Given the description of an element on the screen output the (x, y) to click on. 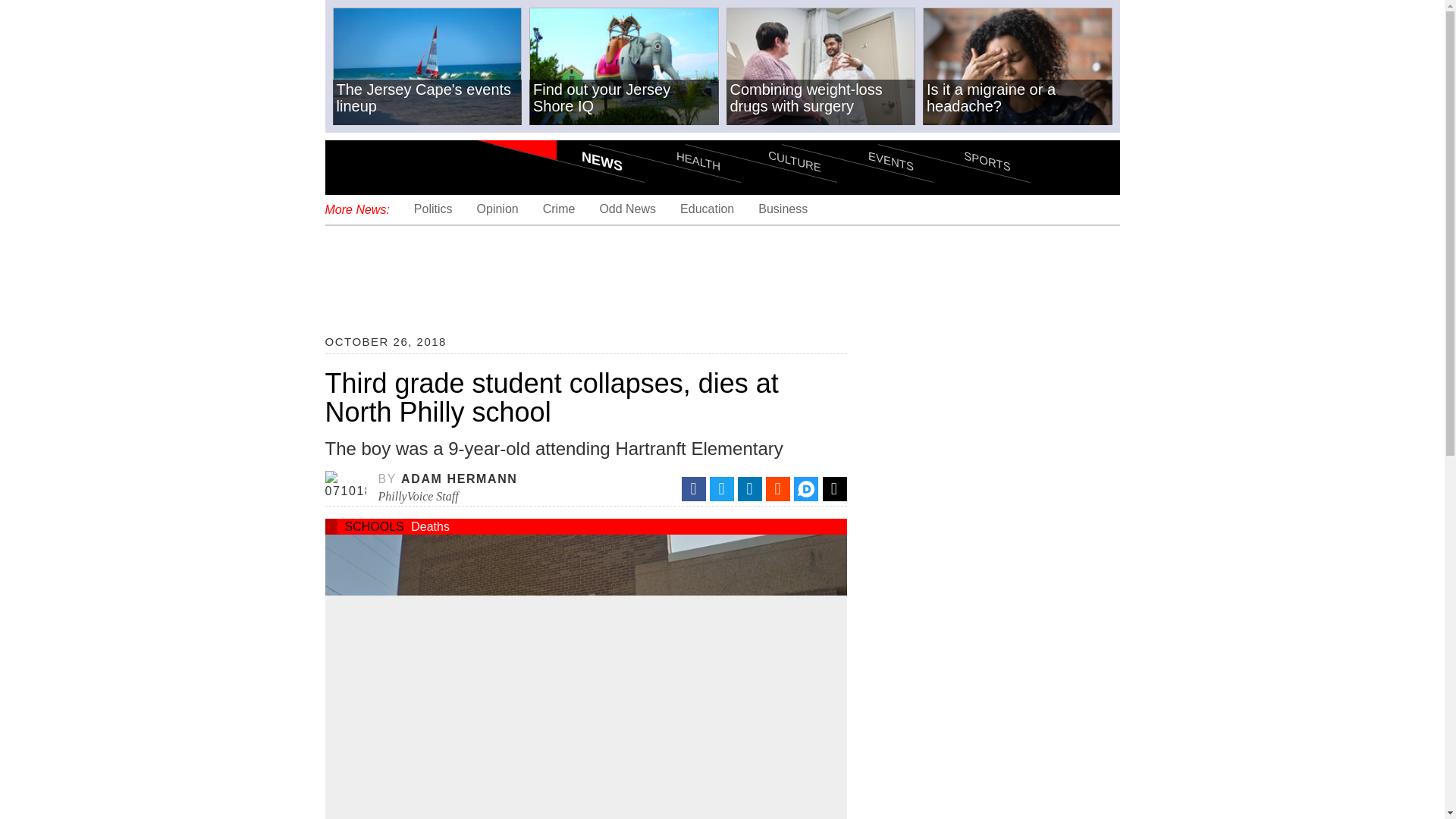
Reddit (777, 488)
SPORTS (953, 132)
Facebook (693, 488)
CULTURE (761, 132)
NEWS (569, 132)
HEALTH (663, 132)
PhillyVoice (428, 166)
Find out your Jersey Shore IQ (624, 67)
The Jersey Cape's events lineup (426, 67)
Combining weight-loss drugs with surgery (820, 67)
Email (833, 488)
Twitter (721, 488)
Menu (348, 167)
LinkedIn (749, 488)
Is it a migraine or a headache? (1017, 67)
